Given the description of an element on the screen output the (x, y) to click on. 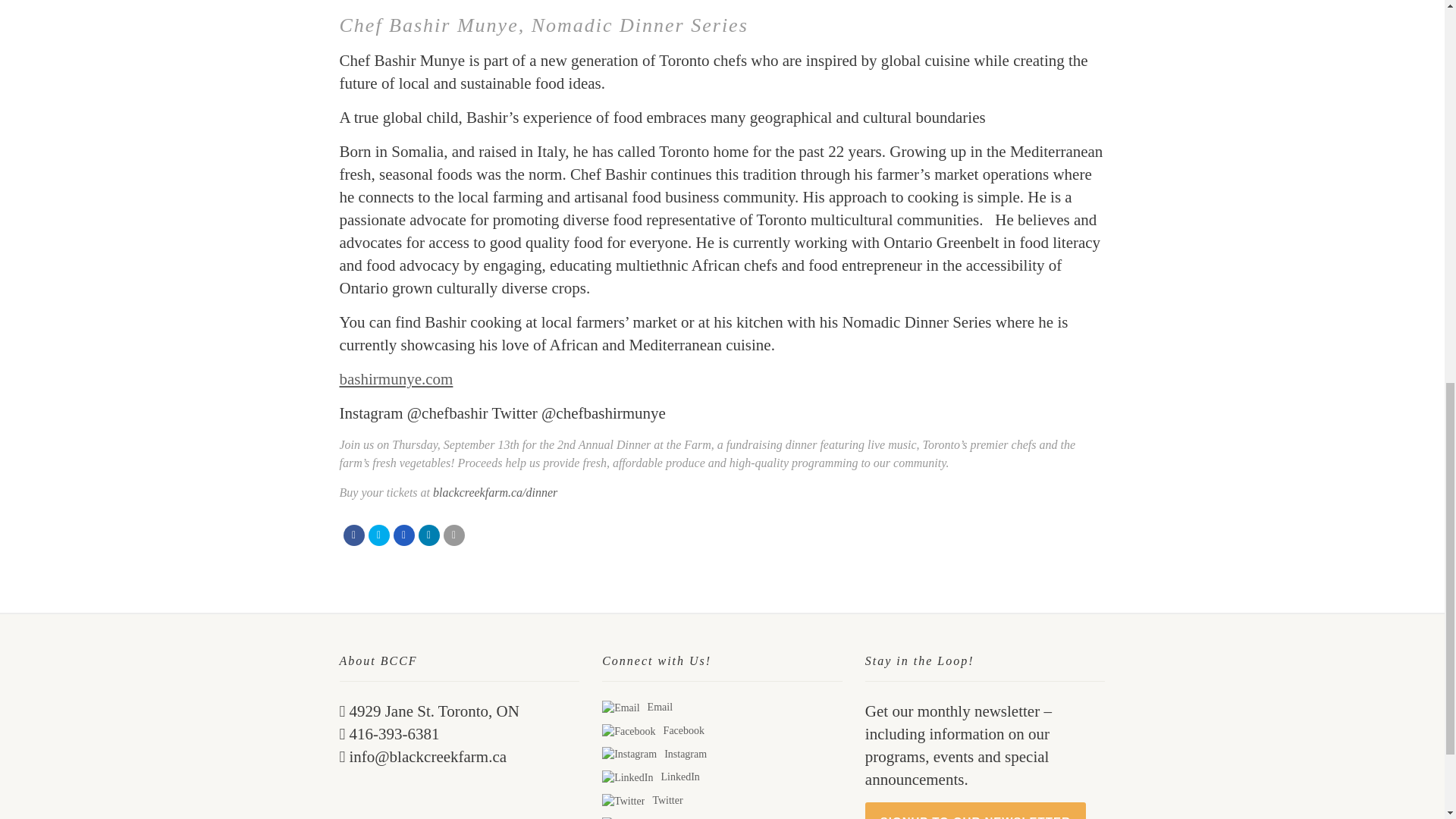
Facebook (628, 731)
Email (453, 535)
Email (620, 708)
Share on Linkedin (429, 535)
YouTube (627, 818)
Share on Facebook (353, 535)
LinkedIn (627, 777)
Instagram (629, 754)
Twitter (623, 801)
Tweet (379, 535)
